Given the description of an element on the screen output the (x, y) to click on. 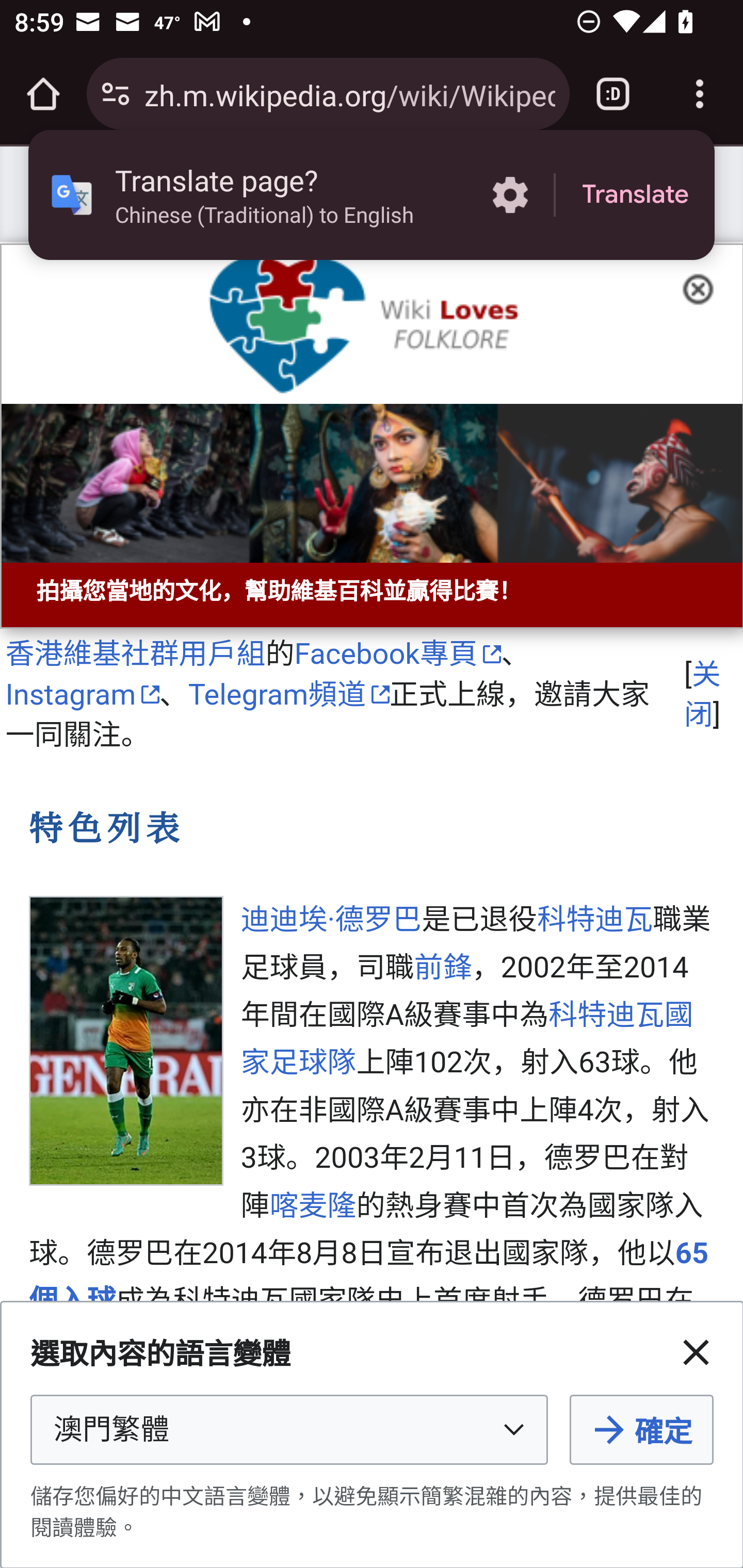
Open the home page (43, 93)
Connection is secure (115, 93)
Switch or close tabs (612, 93)
Customize and control Google Chrome (699, 93)
zh.m.wikipedia.org/wiki/Wikipedia:首页 (349, 92)
Translate (634, 195)
More options in the Translate page? (509, 195)
拍攝您當地的文化，幫助維基百科並贏得比賽！ (371, 435)
隐藏 (703, 286)
香港維基社群用戶組 (135, 653)
Facebook專頁 (397, 653)
关闭 (702, 694)
Instagram (81, 695)
Telegram頻道 (288, 695)
213px-Didier_Drogba_9248 (125, 1040)
迪迪埃·德罗巴 (330, 921)
科特迪瓦 (594, 921)
前鋒 (443, 968)
科特迪瓦國家足球隊 (466, 1038)
喀麦隆 (312, 1206)
65個入球 (368, 1276)
關閉 (695, 1352)
選取內容的語言變體 (288, 1429)
確定 (641, 1429)
